Given the description of an element on the screen output the (x, y) to click on. 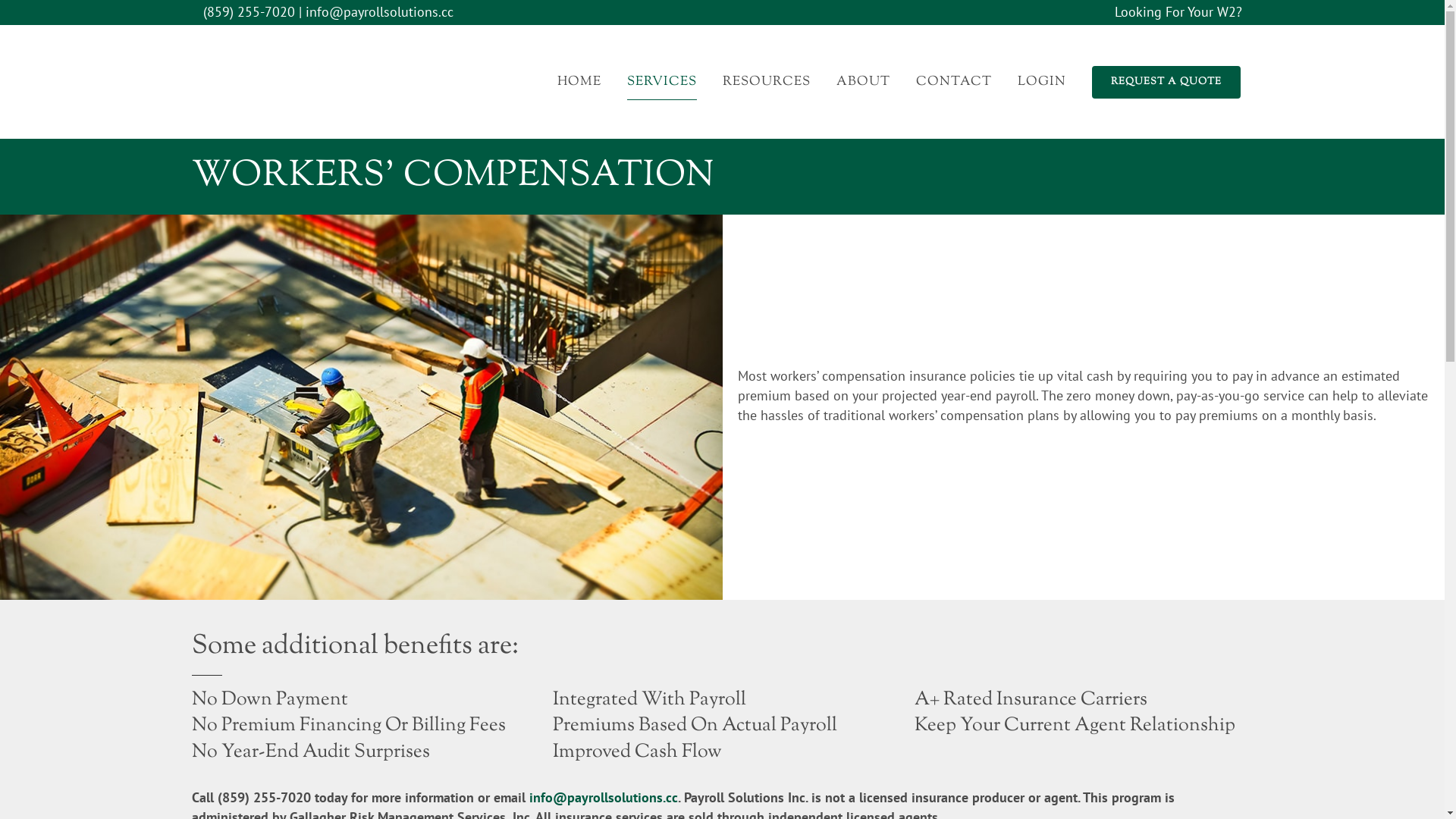
(859) 255-7020 Element type: text (248, 11)
REQUEST A QUOTE Element type: text (1166, 81)
HOME Element type: text (579, 81)
LOGIN Element type: text (1041, 81)
ABOUT Element type: text (863, 81)
CONTACT Element type: text (953, 81)
Looking For Your W2? Element type: text (1178, 11)
SERVICES Element type: text (661, 81)
info@payrollsolutions.cc Element type: text (603, 797)
RESOURCES Element type: text (766, 81)
